Given the description of an element on the screen output the (x, y) to click on. 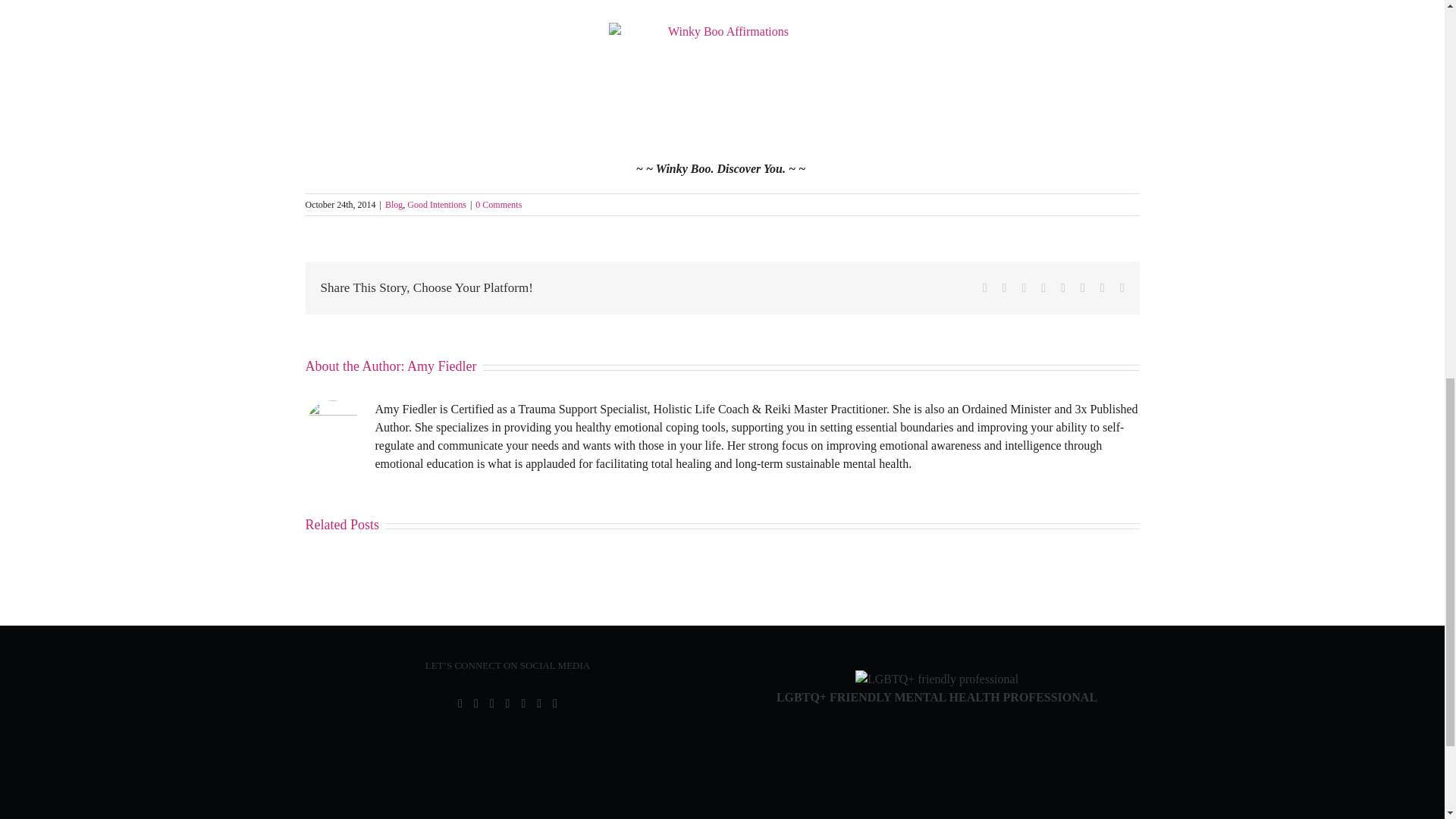
Posts by Amy Fiedler (442, 365)
